Given the description of an element on the screen output the (x, y) to click on. 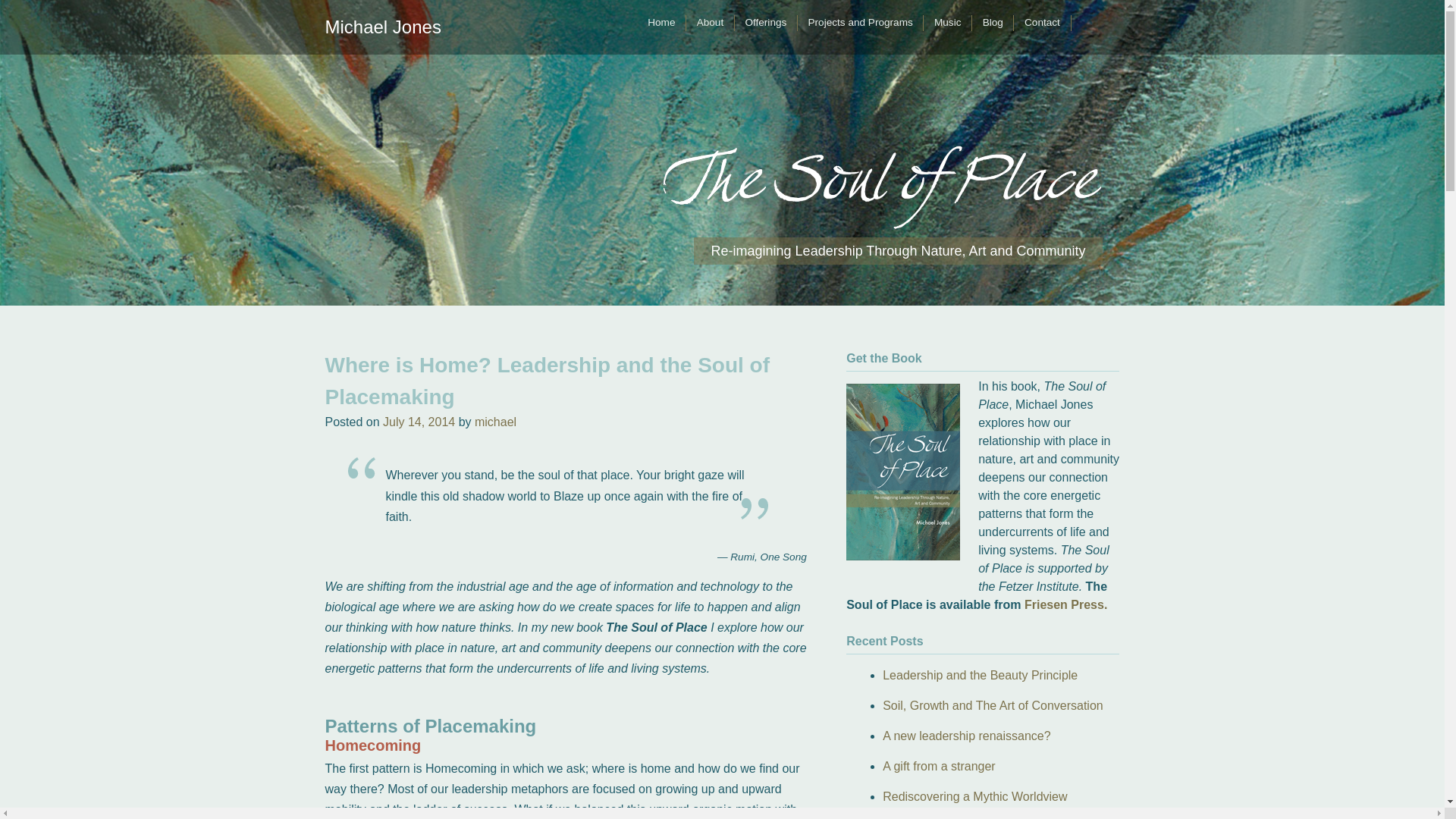
Blog (992, 22)
Offerings (766, 22)
Leadership and the Beauty Principle (979, 675)
michael (495, 421)
Projects and Programs (860, 22)
A gift from a stranger (938, 766)
Home (661, 22)
Rediscovering a Mythic Worldview (974, 796)
About (710, 22)
July 14, 2014 (418, 421)
